Given the description of an element on the screen output the (x, y) to click on. 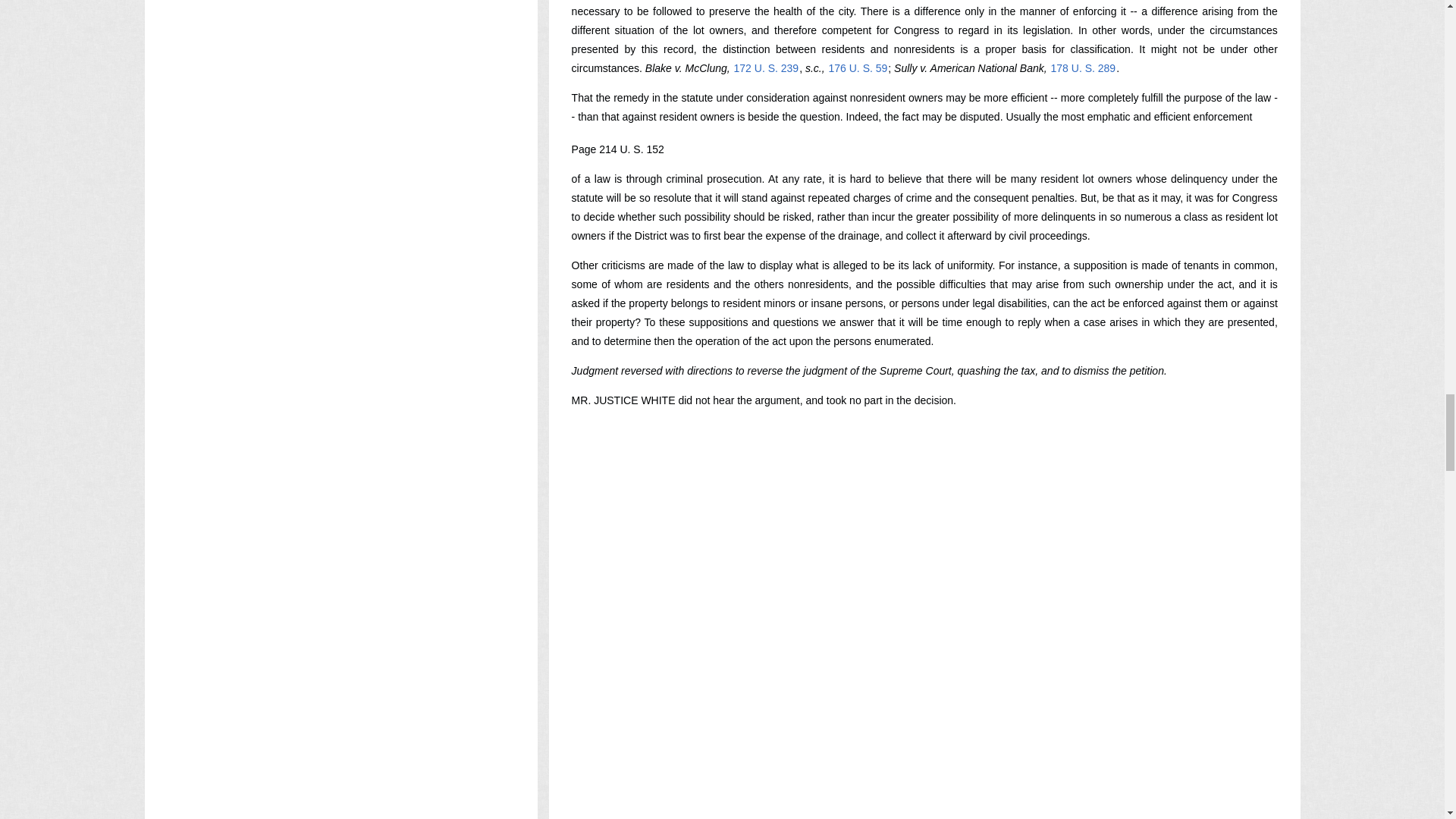
178 U. S. 289 (1082, 68)
176 U. S. 59 (858, 68)
172 U. S. 239 (766, 68)
Page 214 U. S. 152 (617, 149)
